Given the description of an element on the screen output the (x, y) to click on. 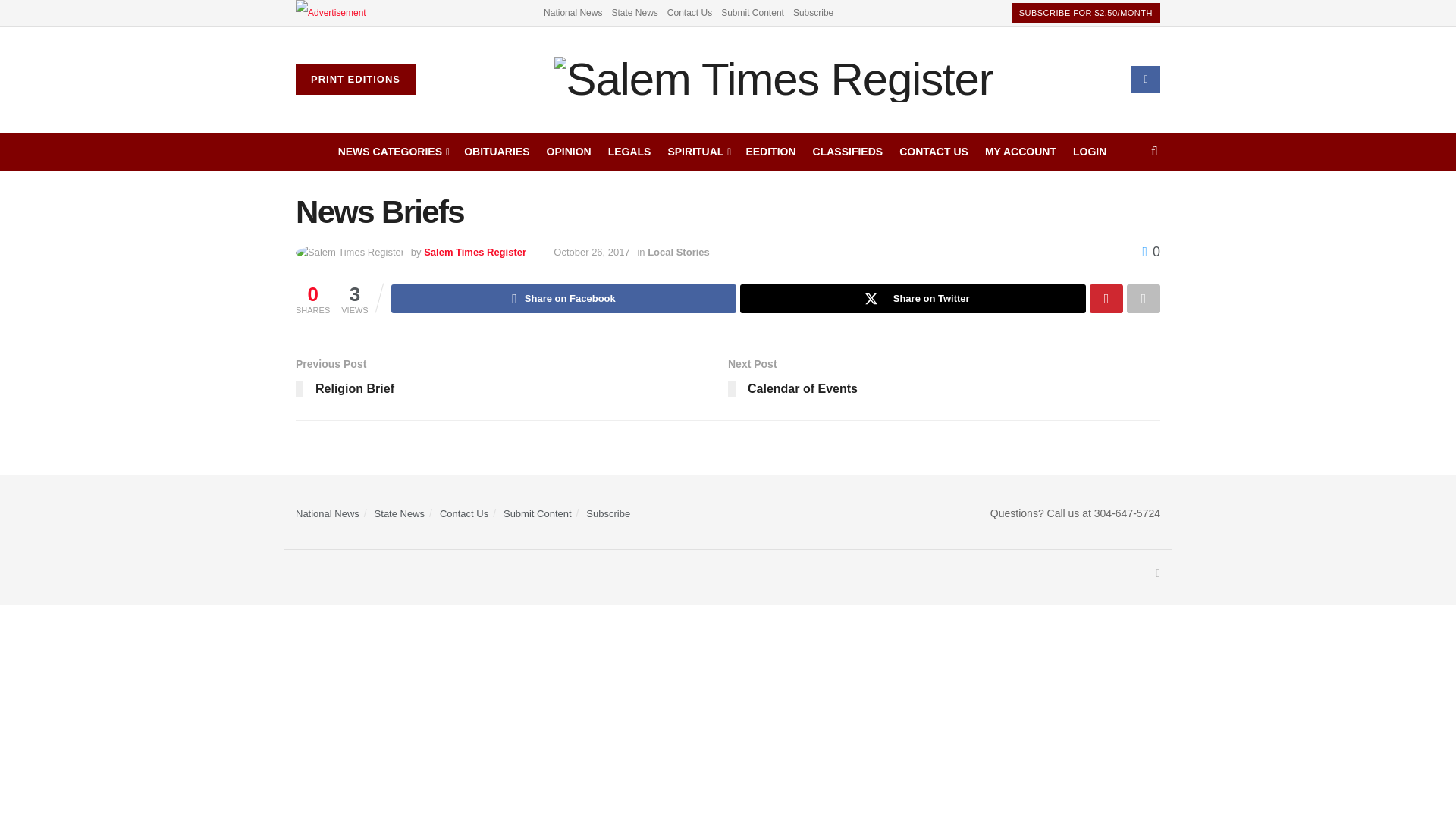
OPINION (569, 151)
MY ACCOUNT (1021, 151)
CLASSIFIEDS (847, 151)
EEDITION (769, 151)
NEWS CATEGORIES (392, 151)
Submit Content (752, 12)
LEGALS (629, 151)
PRINT EDITIONS (354, 79)
OBITUARIES (496, 151)
SPIRITUAL (697, 151)
